Given the description of an element on the screen output the (x, y) to click on. 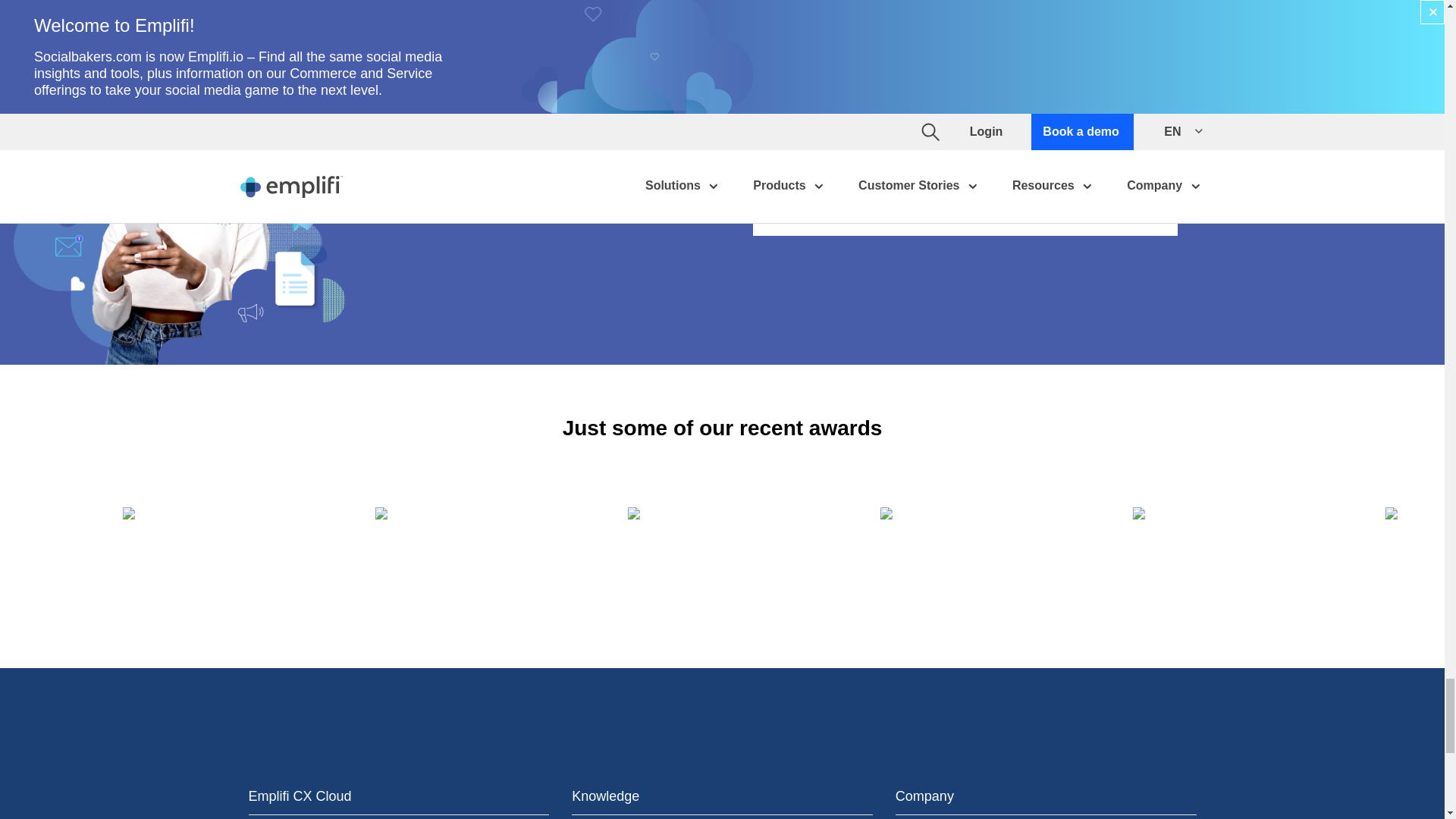
yes (779, 130)
